Given the description of an element on the screen output the (x, y) to click on. 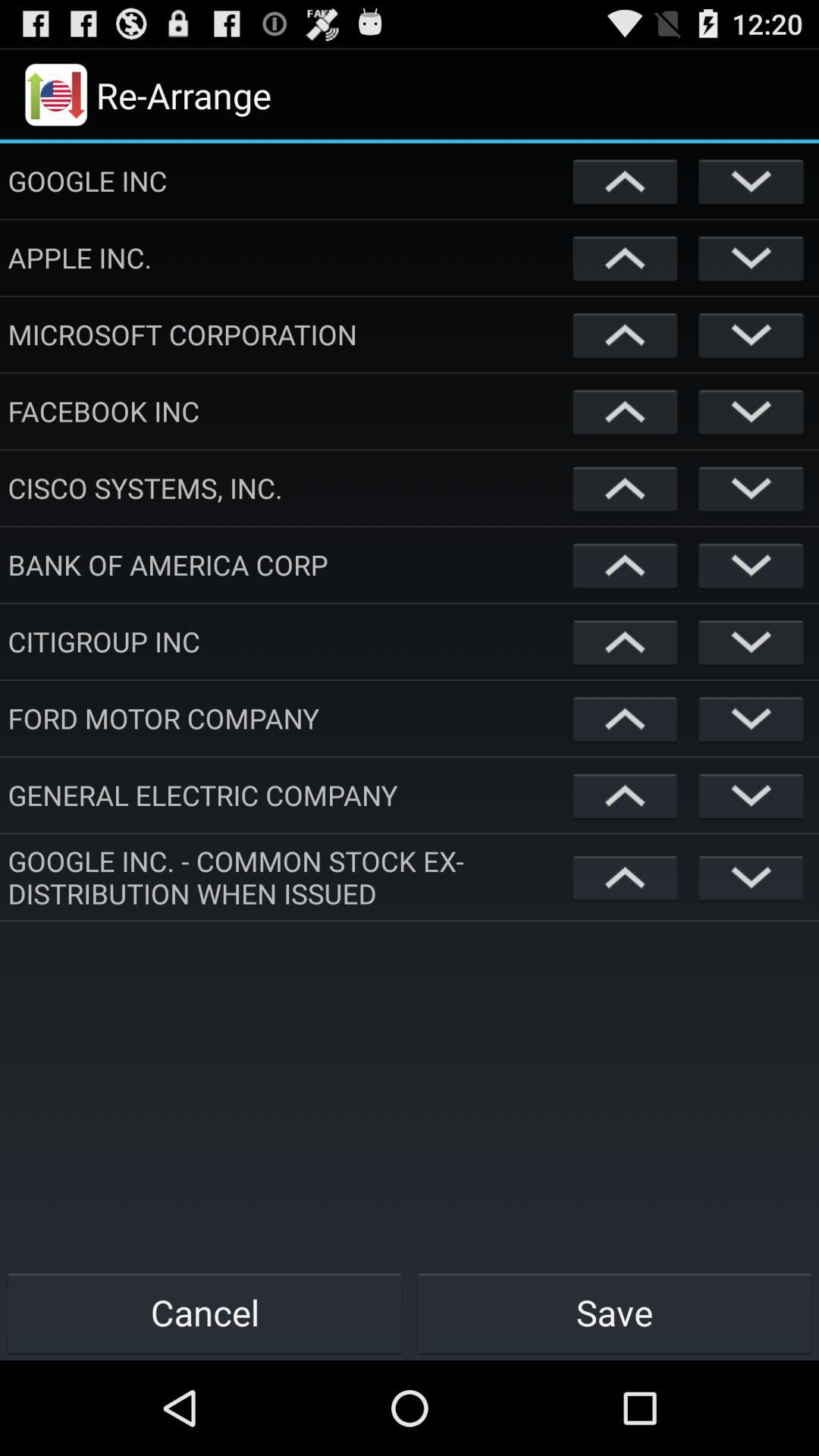
select the citigroup inc icon (286, 641)
